Given the description of an element on the screen output the (x, y) to click on. 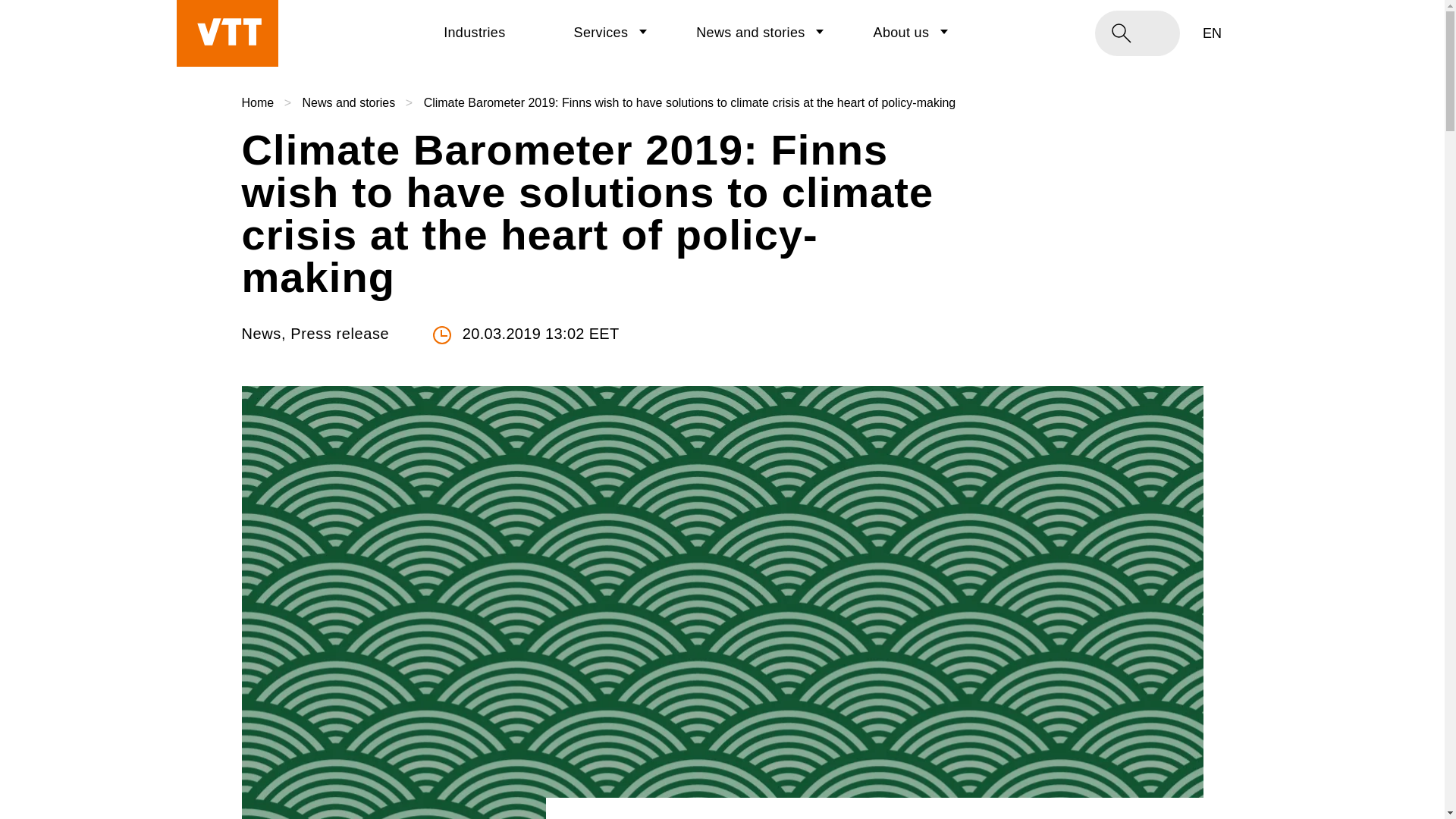
Skip to main content (1253, 32)
Search (349, 103)
Finnish official time (40, 22)
Industries (1253, 33)
About us (473, 33)
Services (901, 33)
News and stories (601, 33)
Wednesday, March 20, 2019 - 13:02 (750, 33)
